Given the description of an element on the screen output the (x, y) to click on. 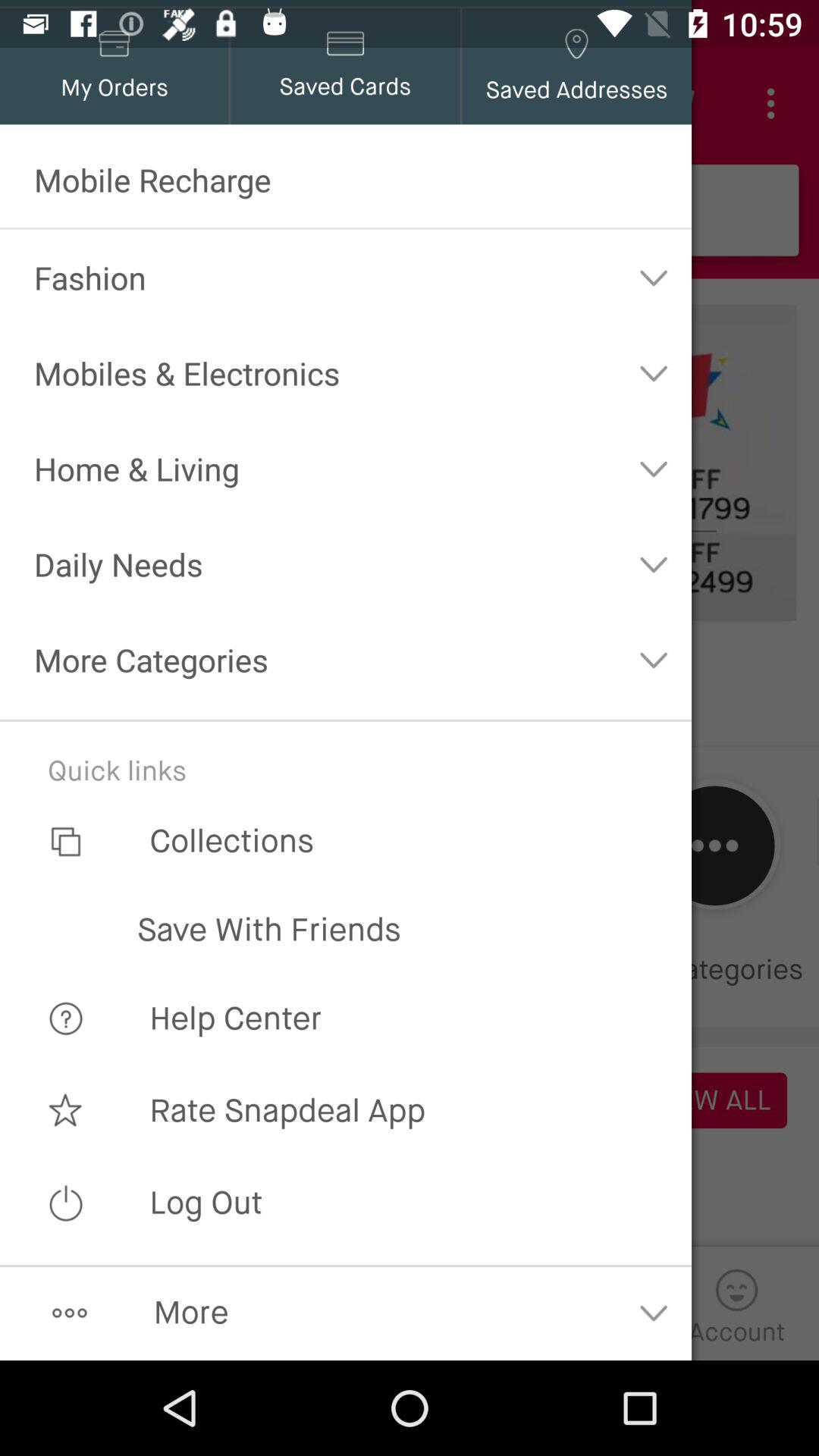
select the arrow beside daily needs (653, 563)
select the arrow at right side of mobiles  electronics (653, 372)
